Given the description of an element on the screen output the (x, y) to click on. 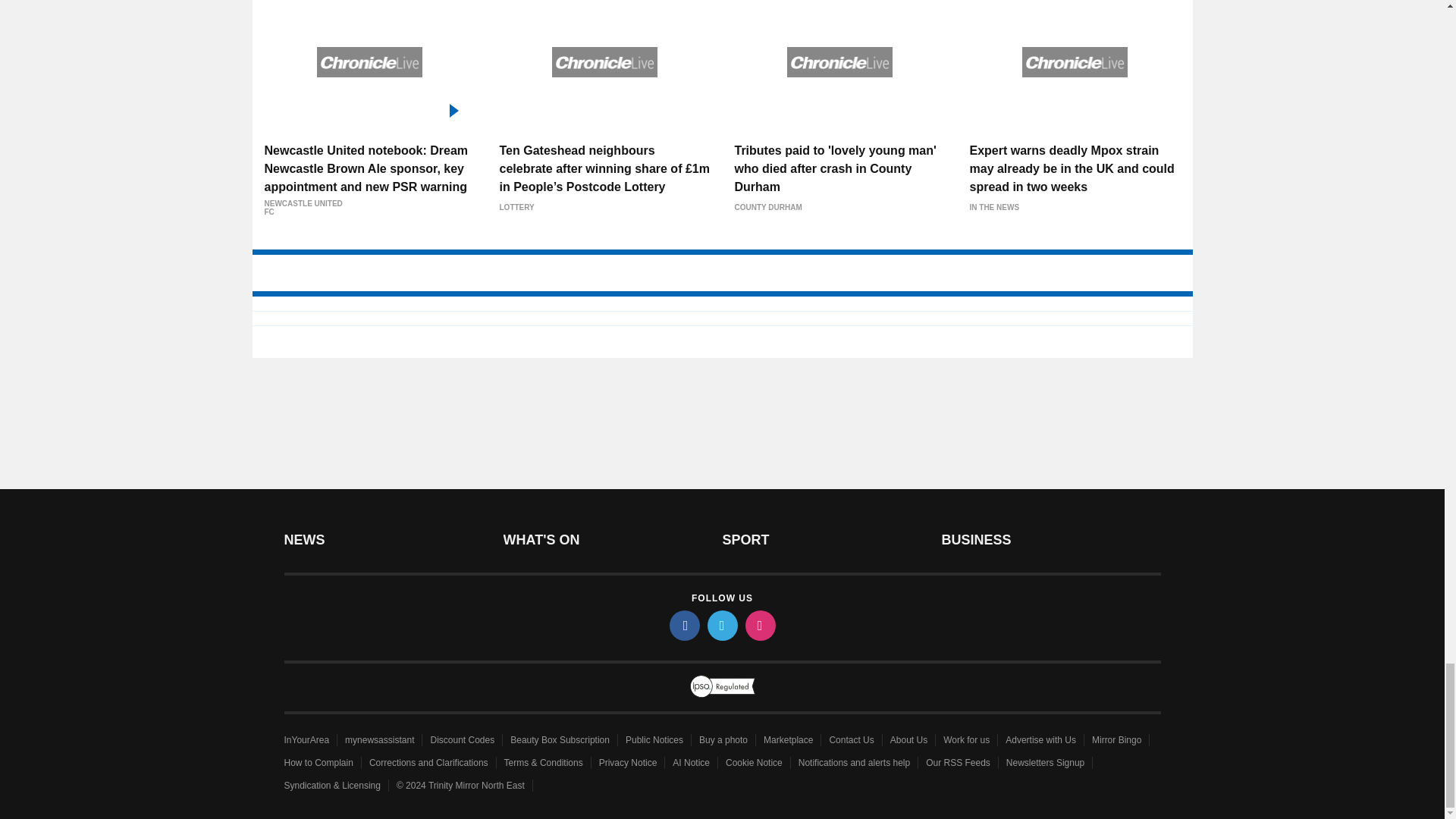
instagram (759, 625)
facebook (683, 625)
twitter (721, 625)
